Given the description of an element on the screen output the (x, y) to click on. 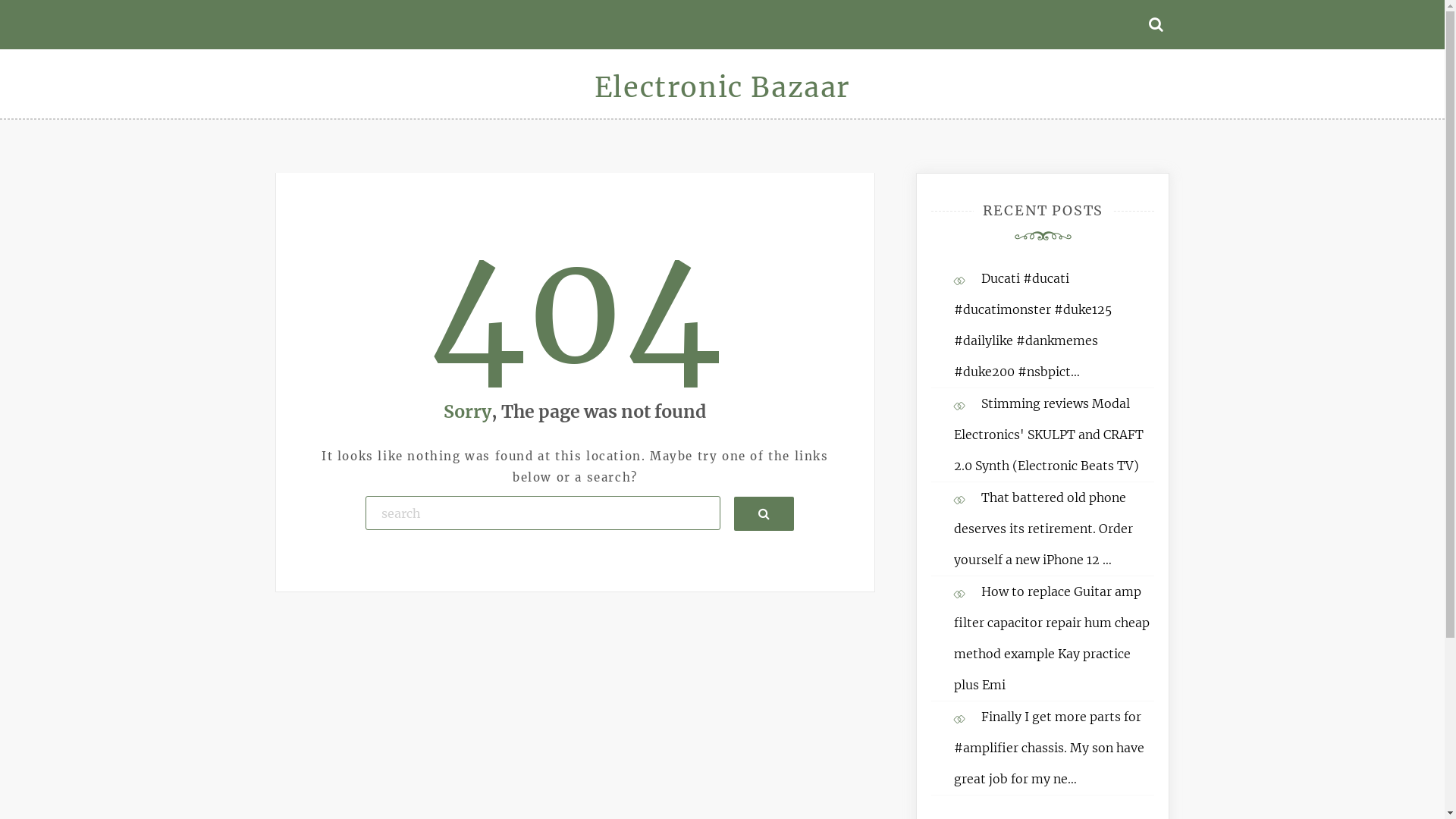
Electronic Bazaar Element type: text (722, 87)
Search Element type: text (763, 512)
